Given the description of an element on the screen output the (x, y) to click on. 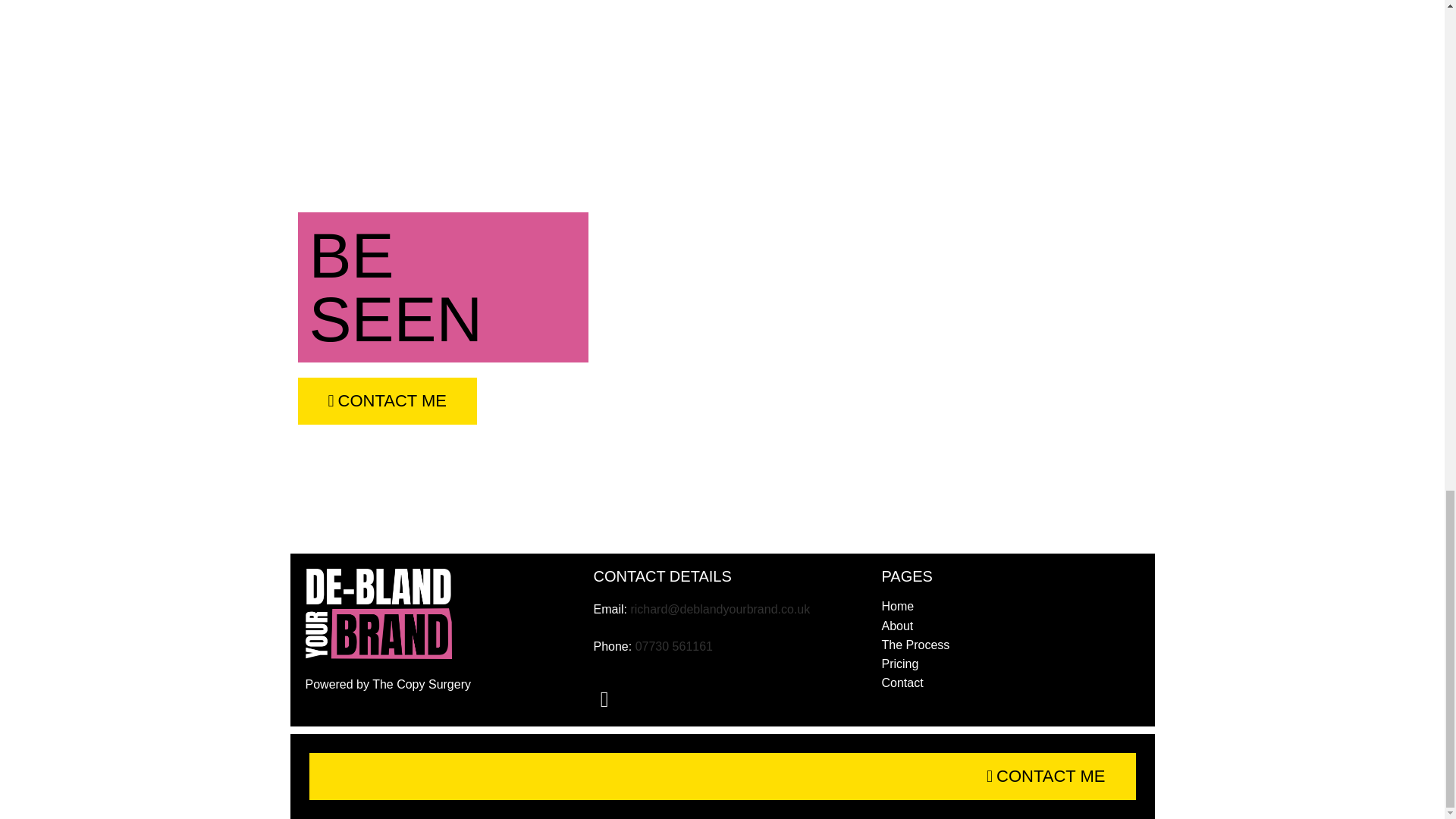
Pricing (1009, 663)
Contact (1009, 682)
About (1009, 626)
Home (1009, 605)
07730 561161 (673, 645)
The Process (1009, 644)
CONTACT ME (386, 401)
CONTACT ME (1045, 776)
